Given the description of an element on the screen output the (x, y) to click on. 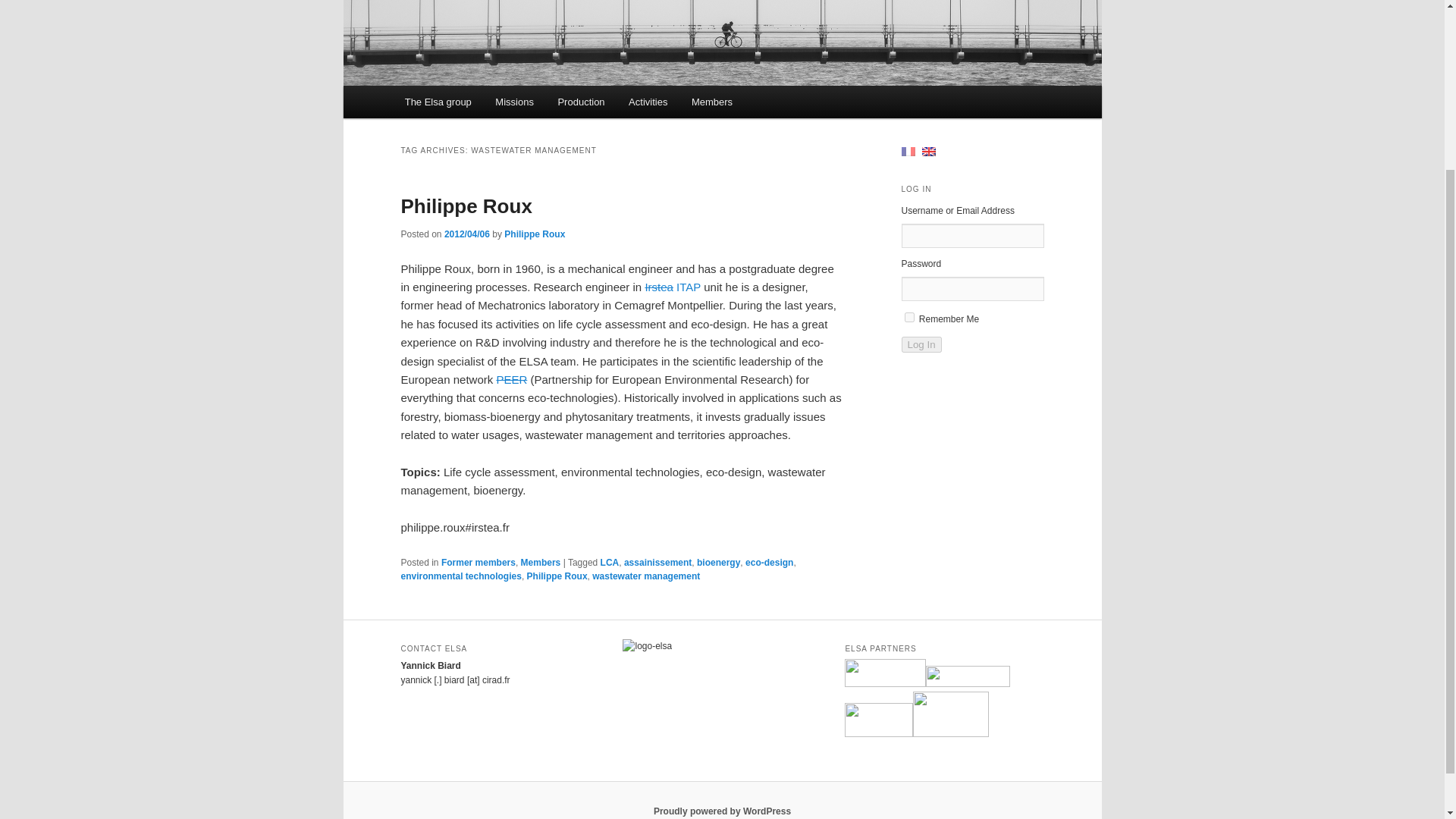
wastewater management (646, 575)
Log In (920, 344)
Members (711, 101)
Activities (647, 101)
Logo Mines Ales (950, 714)
LCA (609, 562)
07:41 (466, 234)
bioenergy (718, 562)
environmental technologies (460, 575)
Philippe Roux (465, 205)
eco-design (769, 562)
Philippe Roux (533, 234)
Missions (514, 101)
View all posts by Philippe Roux (533, 234)
Philippe Roux (557, 575)
